Given the description of an element on the screen output the (x, y) to click on. 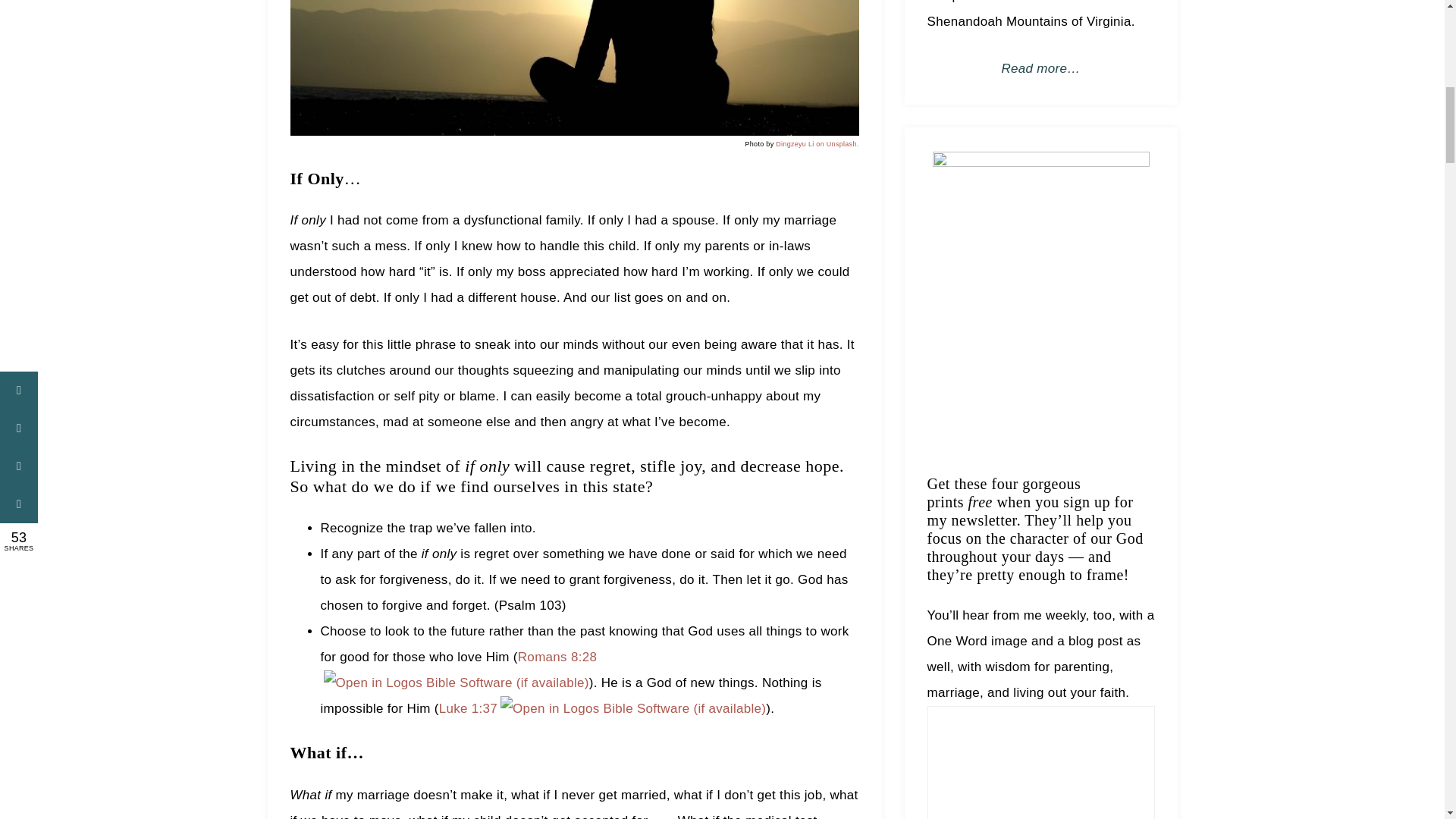
Luke 1:37 (468, 708)
Romans 8:28 (557, 657)
Dingzeyu Li on Unsplash. (817, 144)
